Given the description of an element on the screen output the (x, y) to click on. 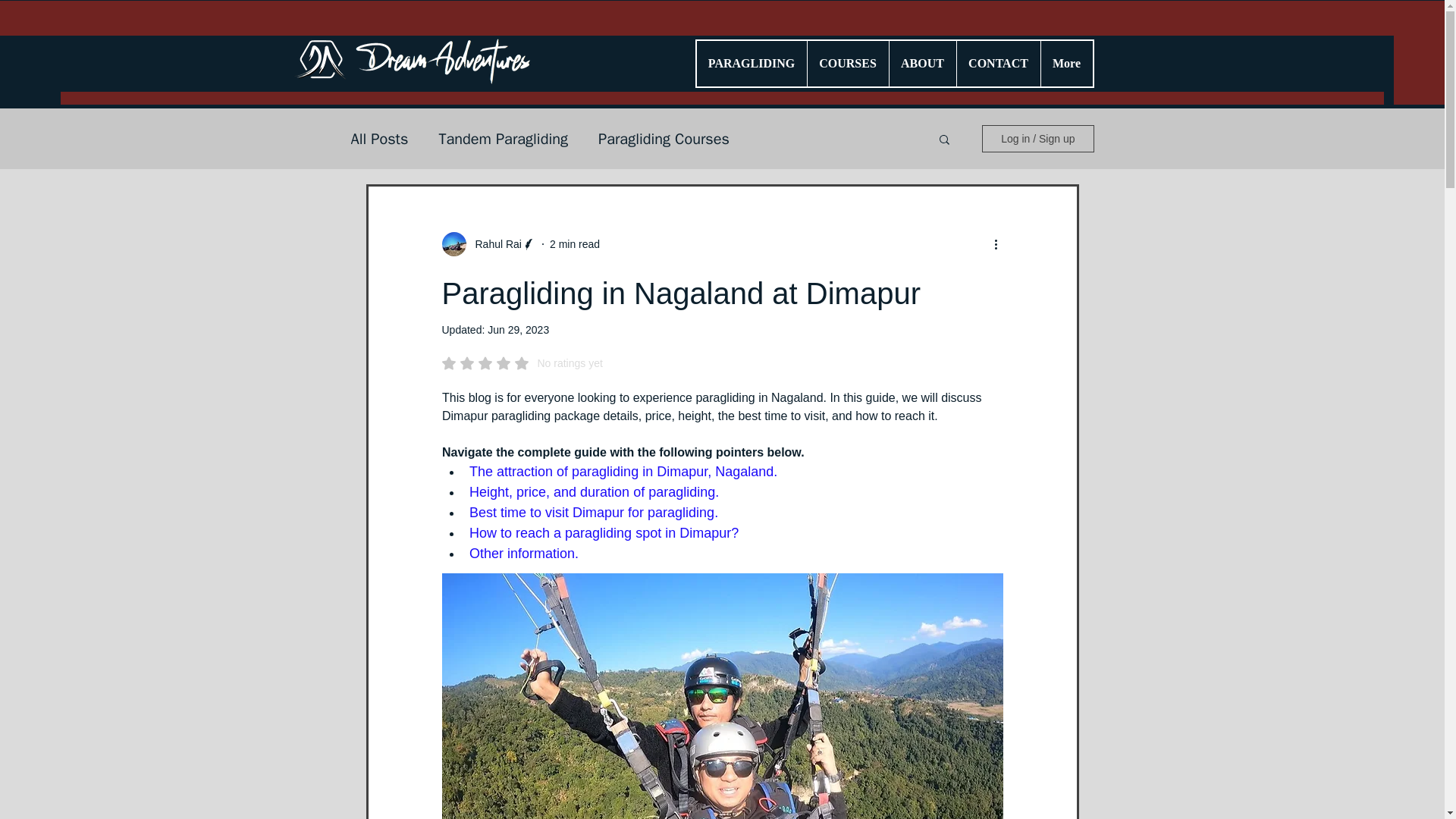
CONTACT (997, 63)
Paragliding Courses (663, 138)
COURSES (847, 63)
Rahul Rai (493, 244)
ABOUT (922, 63)
Tandem Paragliding (502, 138)
2 min read (574, 244)
PARAGLIDING (750, 63)
All Posts (378, 138)
Jun 29, 2023 (517, 329)
